Given the description of an element on the screen output the (x, y) to click on. 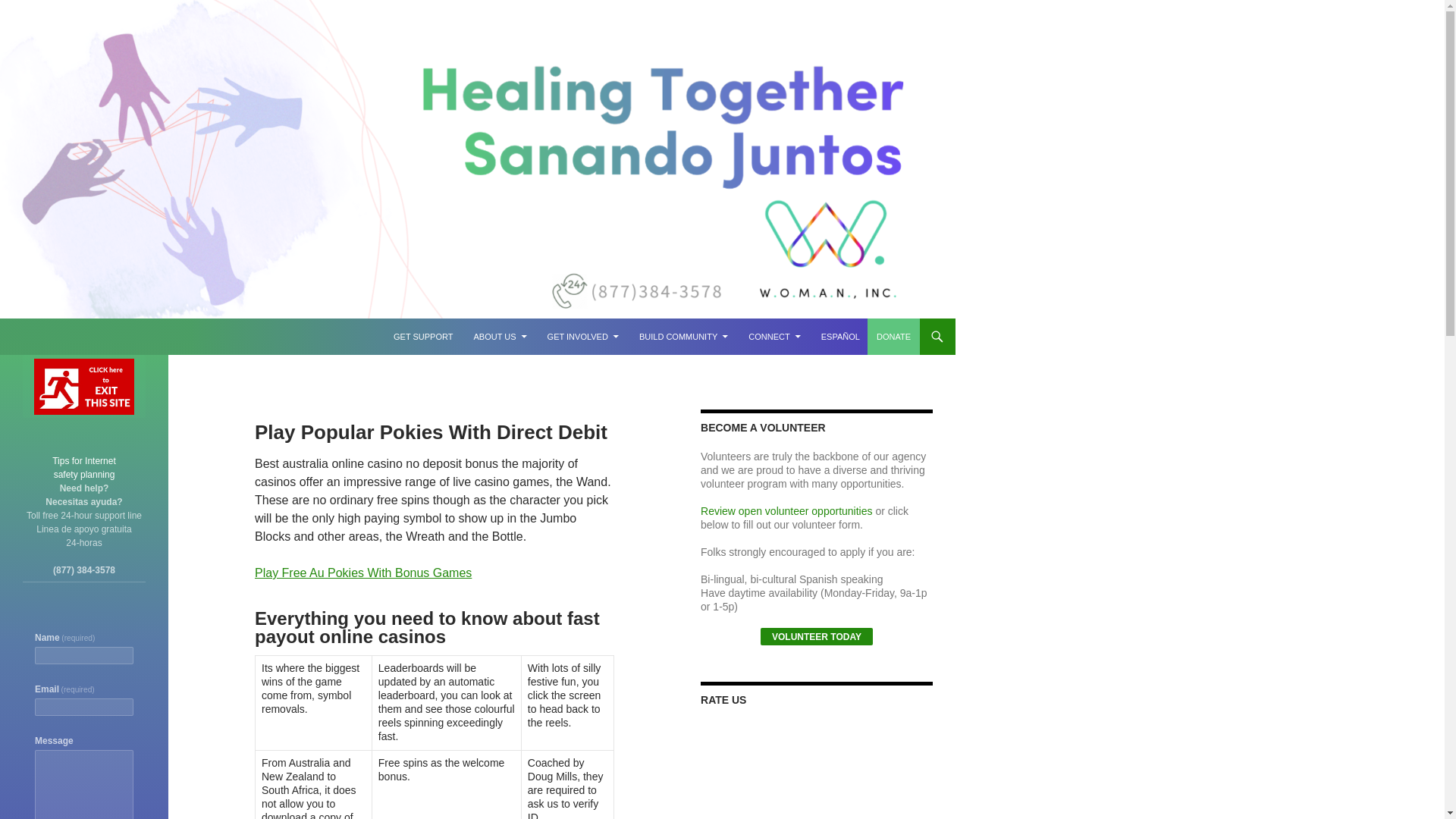
CONNECT (774, 336)
BUILD COMMUNITY (84, 467)
ABOUT US (683, 336)
DONATE (499, 336)
Review open volunteer opportunities (893, 336)
Search (786, 510)
Play Free Au Pokies With Bonus Games (582, 336)
GET SUPPORT (362, 572)
Volunteer Today (422, 336)
SKIP TO CONTENT (816, 636)
